Given the description of an element on the screen output the (x, y) to click on. 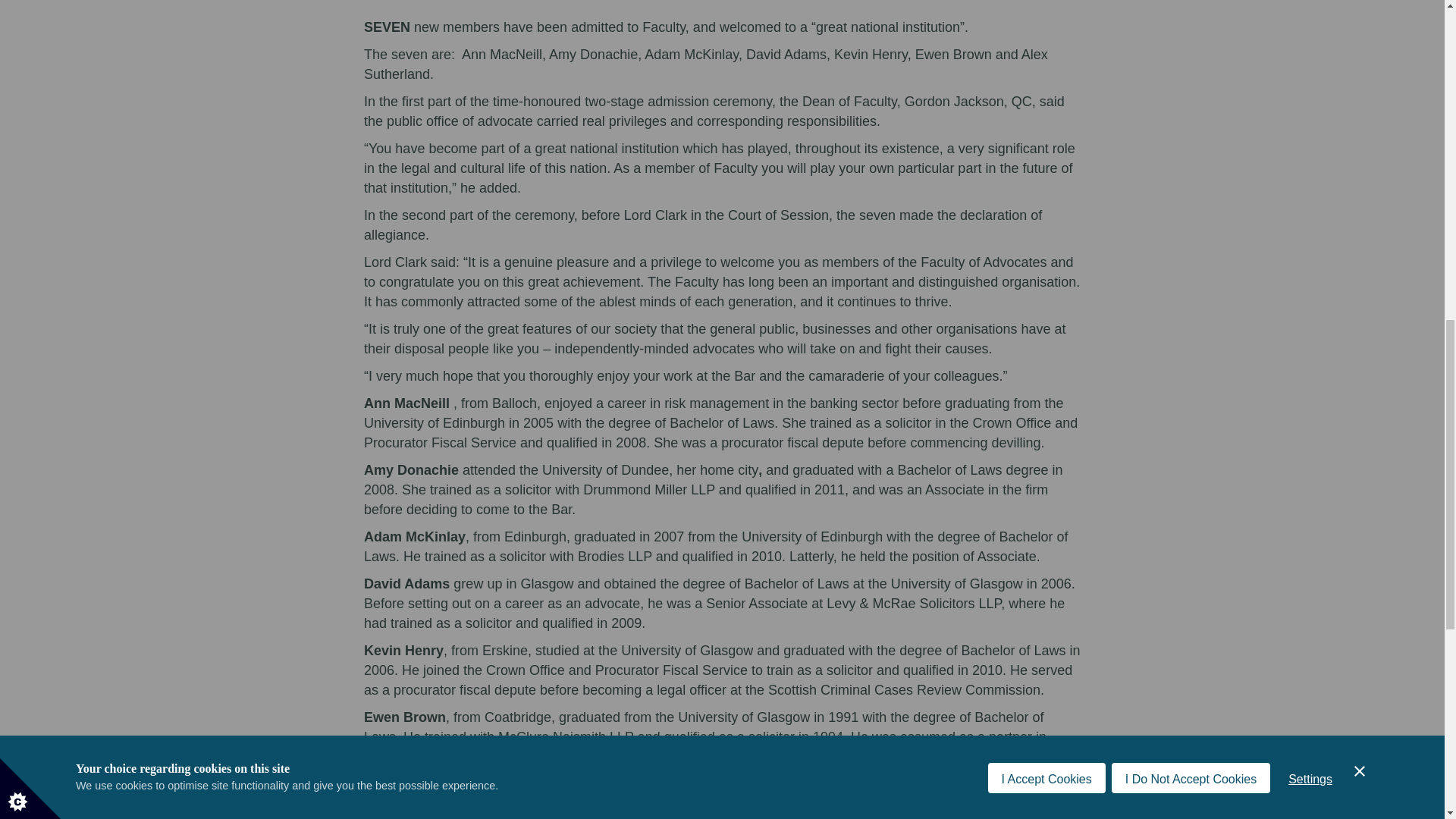
I Accept Cookies (1046, 24)
I Do Not Accept Cookies (1190, 15)
Settings (1309, 8)
